Given the description of an element on the screen output the (x, y) to click on. 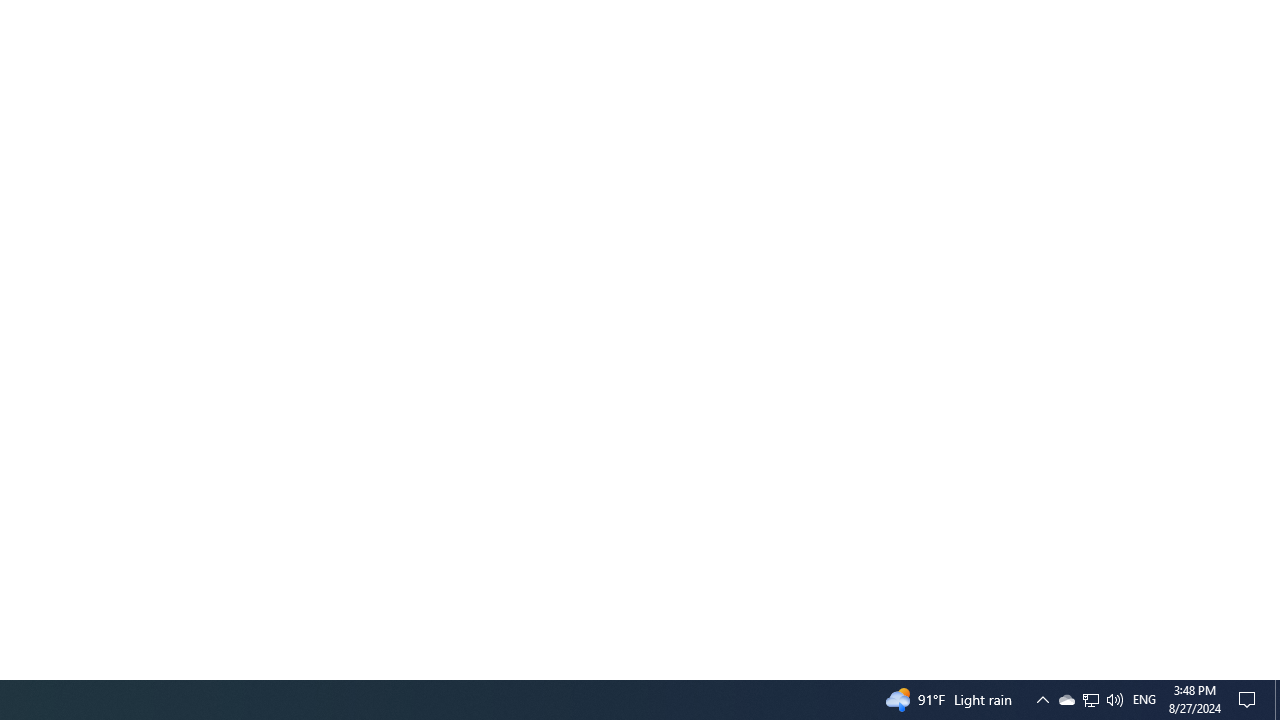
Q2790: 100% (1114, 699)
Tray Input Indicator - English (United States) (1144, 699)
Notification Chevron (1042, 699)
User Promoted Notification Area (1091, 699)
Action Center, No new notifications (1090, 699)
Show desktop (1066, 699)
